Given the description of an element on the screen output the (x, y) to click on. 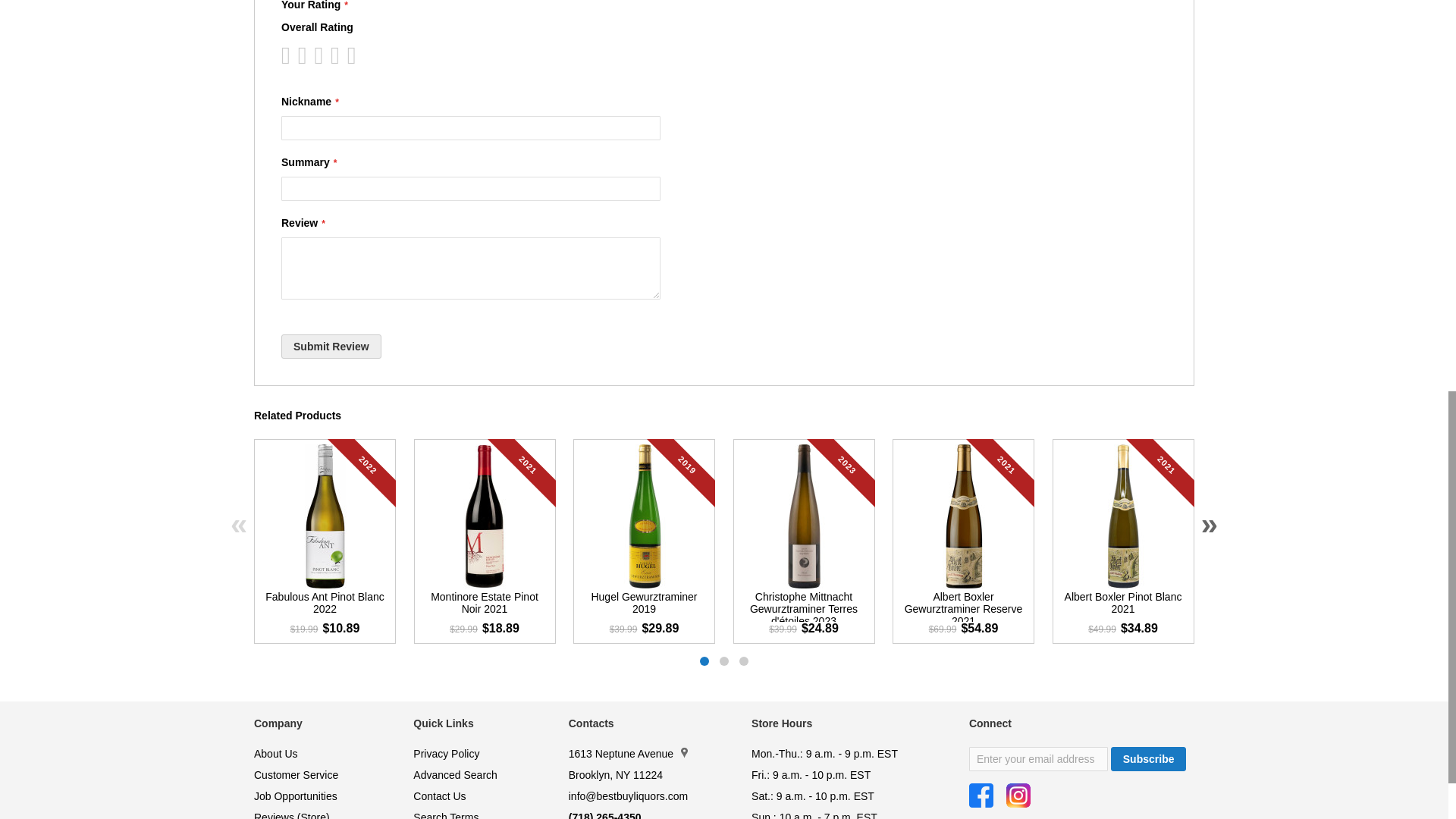
2 stars (297, 55)
4 stars (314, 55)
5 stars (321, 55)
Hugel Gewurztraminer 2019 (643, 605)
Montinore Estate Pinot Noir 2021 (484, 605)
3 stars (305, 55)
1 star (289, 55)
Fabulous Ant Pinot Blanc 2022 (324, 605)
